Given the description of an element on the screen output the (x, y) to click on. 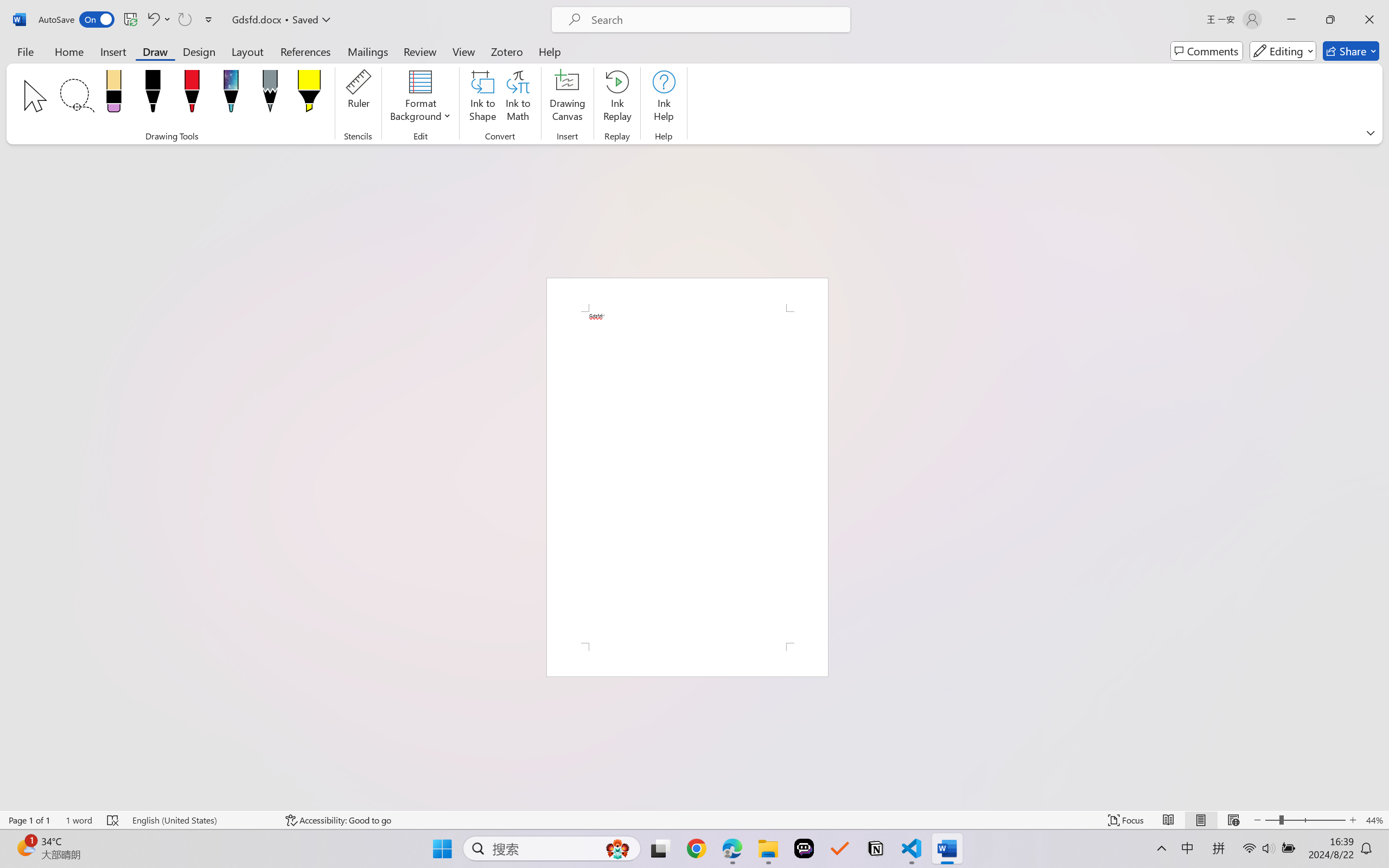
66% (663, 437)
Screen Recording (157, 62)
400% (664, 403)
Running applications (674, 855)
